Given the description of an element on the screen output the (x, y) to click on. 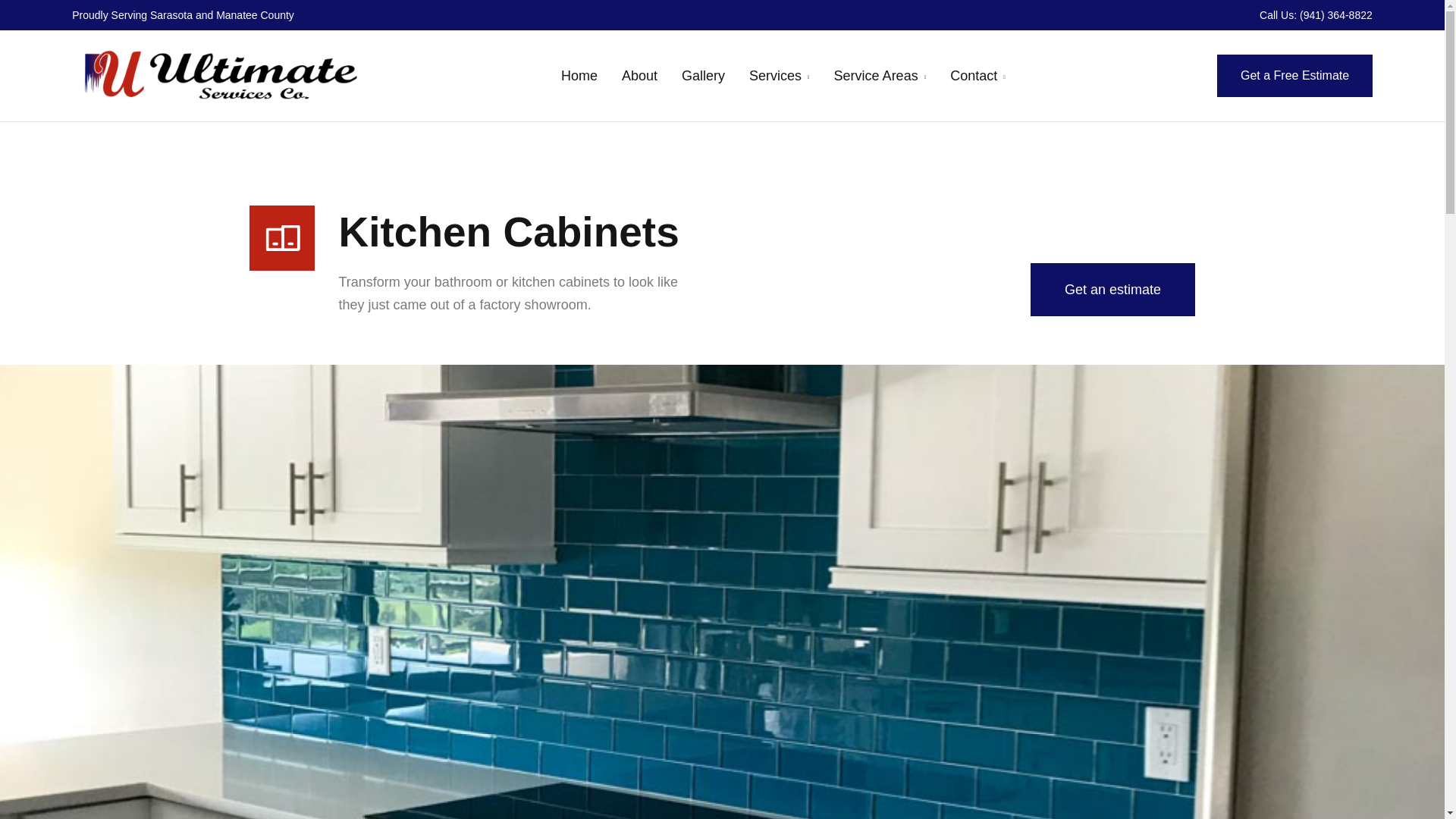
Service Areas (876, 75)
industrial painting services sarasota (775, 75)
Contact (973, 75)
About (639, 75)
Get an estimate (1112, 289)
Get a Free Estimate (1295, 75)
Services (775, 75)
best exterior painting company sarasota (876, 75)
about quality painting in sarasota (639, 75)
exterior painting gallery sarasota (703, 75)
painting contractor sarasota (578, 75)
Gallery (703, 75)
Home (578, 75)
